Given the description of an element on the screen output the (x, y) to click on. 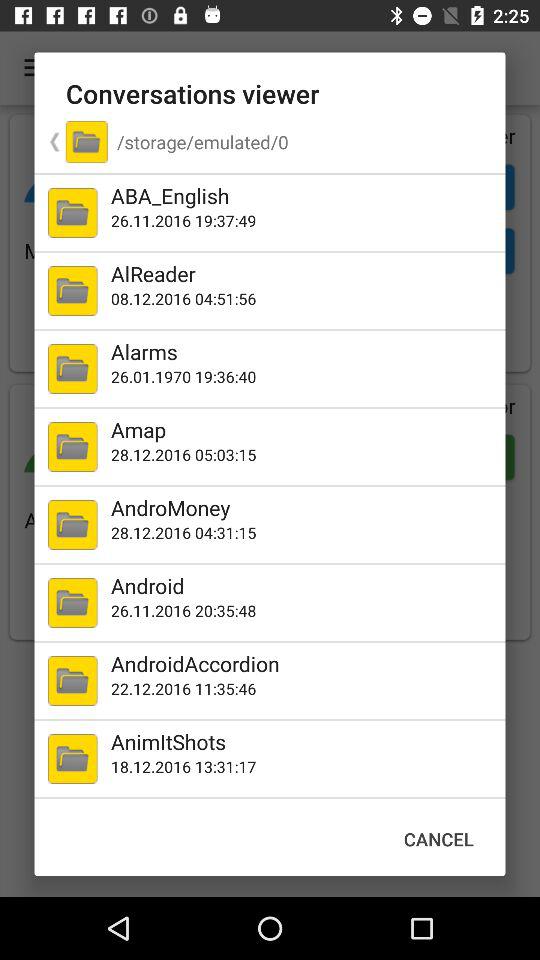
turn on the andromoney icon (304, 507)
